Given the description of an element on the screen output the (x, y) to click on. 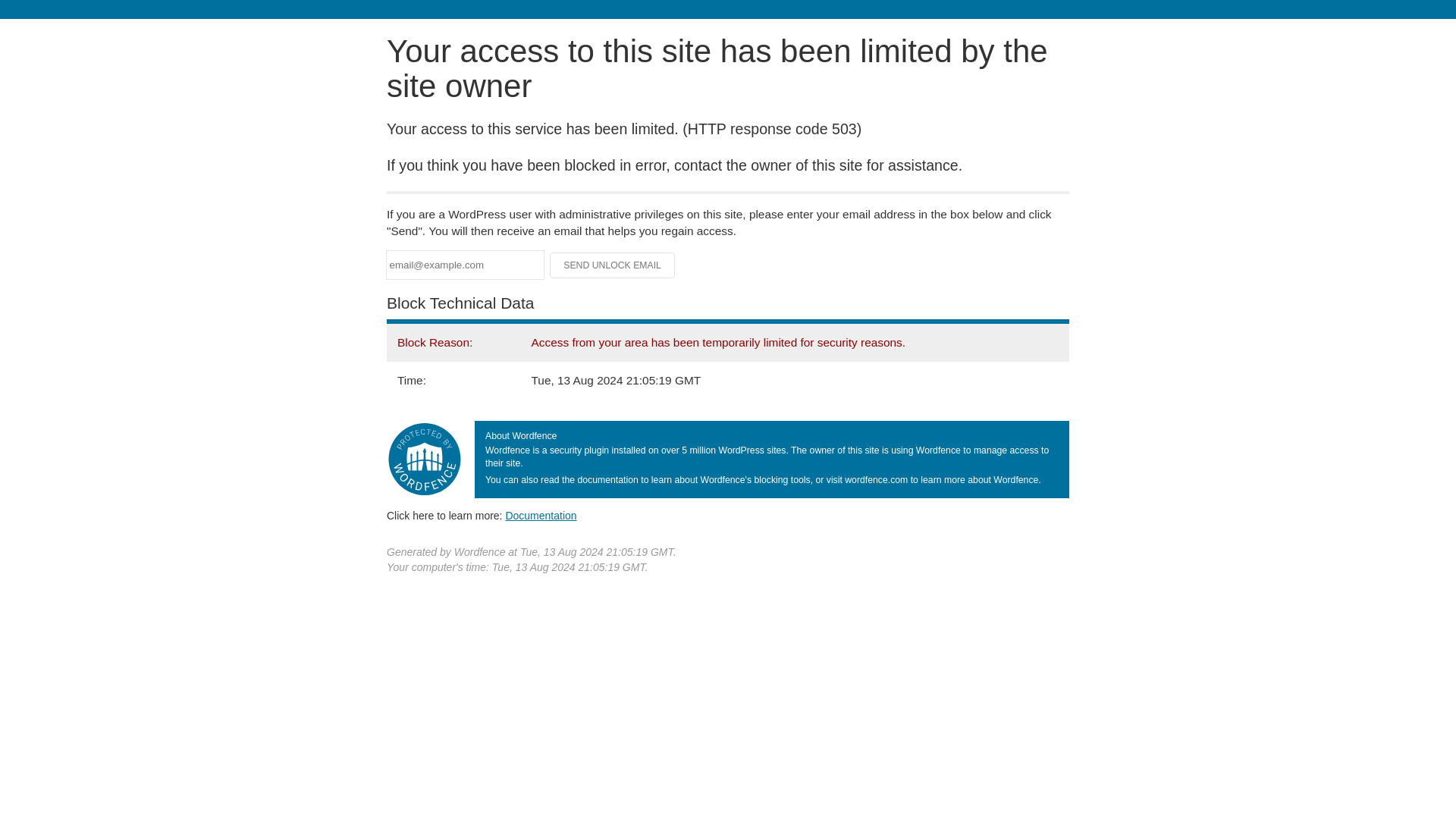
Send Unlock Email (612, 265)
Documentation (540, 515)
Send Unlock Email (612, 265)
